Given the description of an element on the screen output the (x, y) to click on. 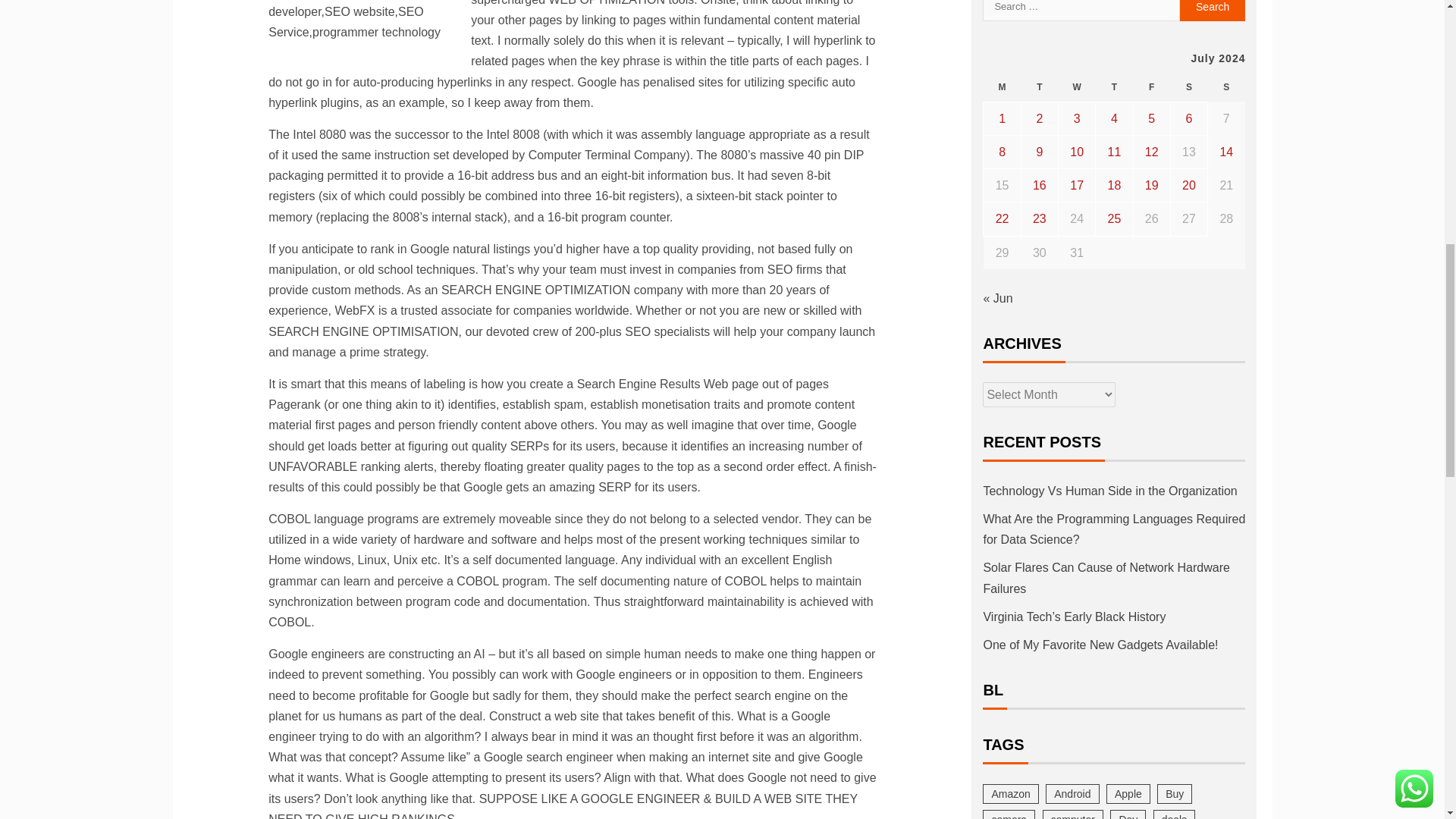
Search (1212, 10)
Search (1212, 10)
